Given the description of an element on the screen output the (x, y) to click on. 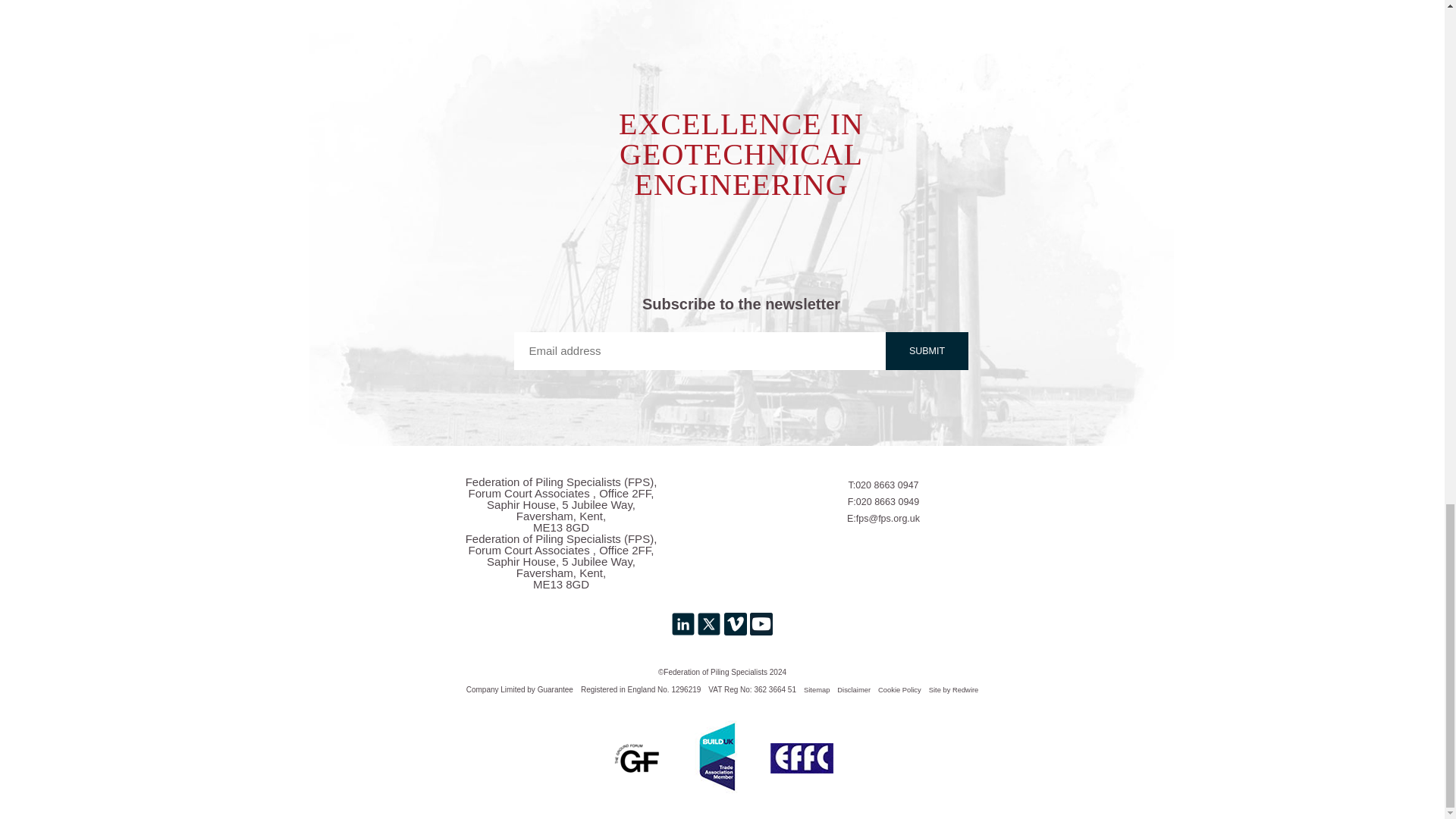
Submit (926, 351)
